Given the description of an element on the screen output the (x, y) to click on. 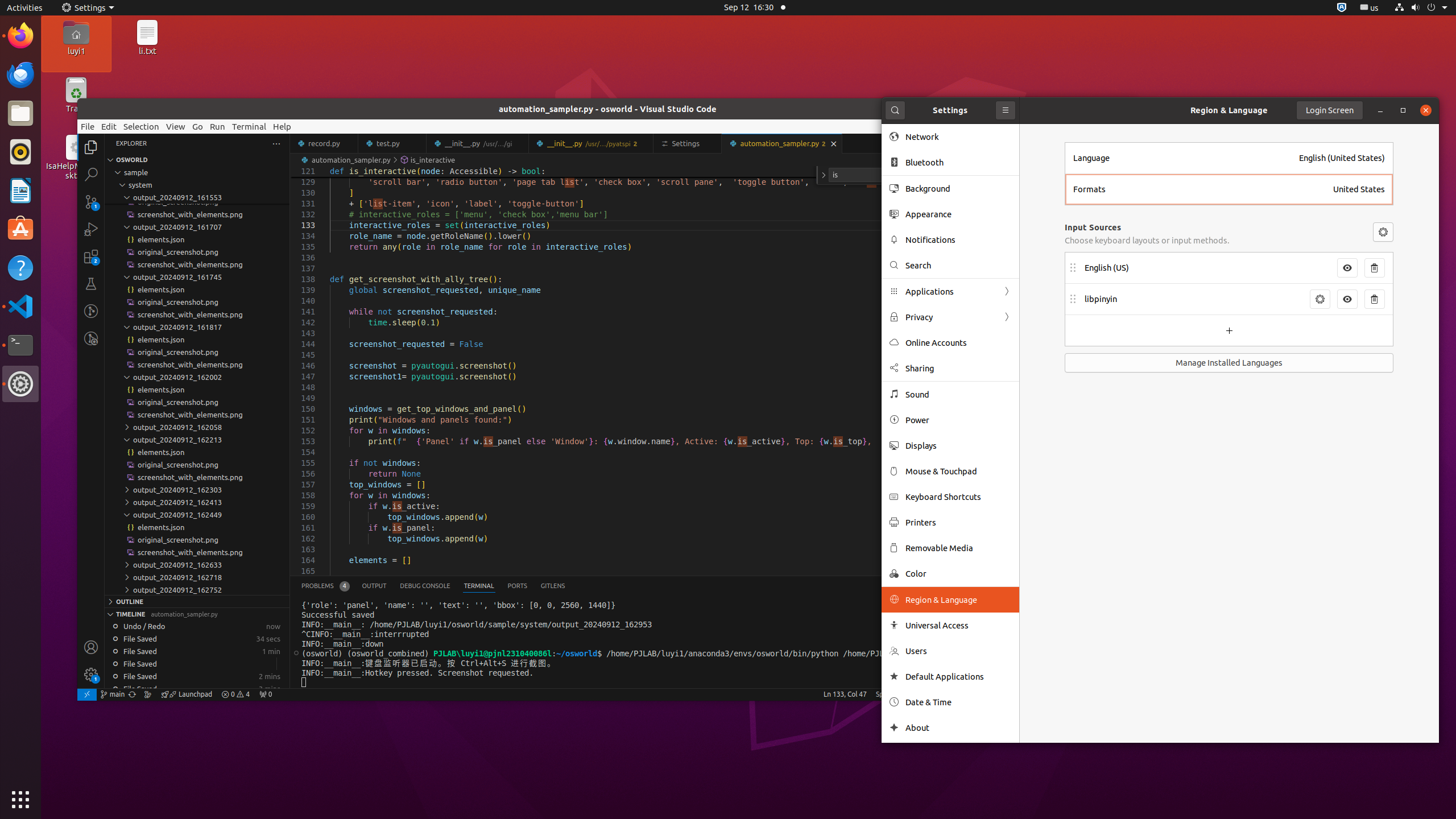
Close Element type: push-button (1425, 109)
libpinyin Element type: label (1193, 298)
Appearance Element type: label (958, 213)
Manage Installed Languages Element type: push-button (1228, 362)
